Given the description of an element on the screen output the (x, y) to click on. 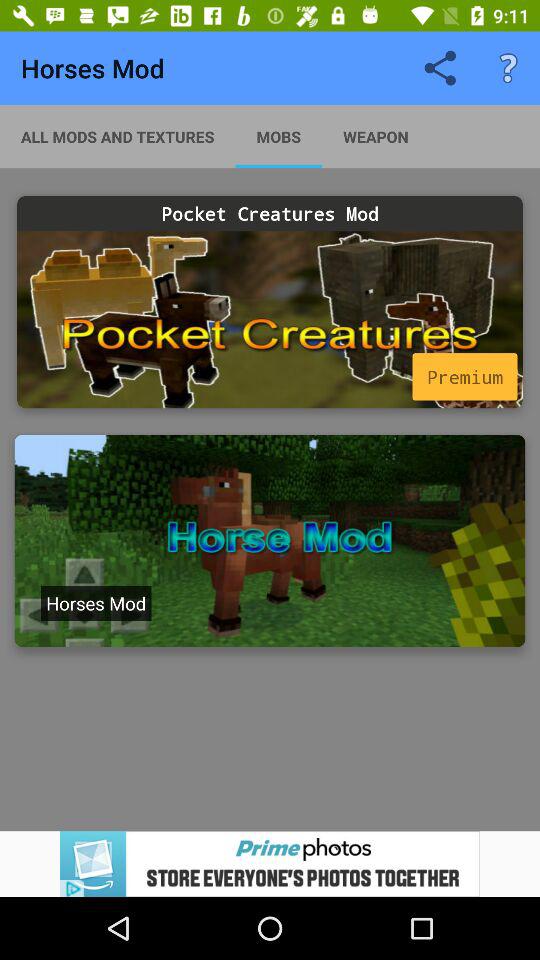
open section (269, 541)
